Given the description of an element on the screen output the (x, y) to click on. 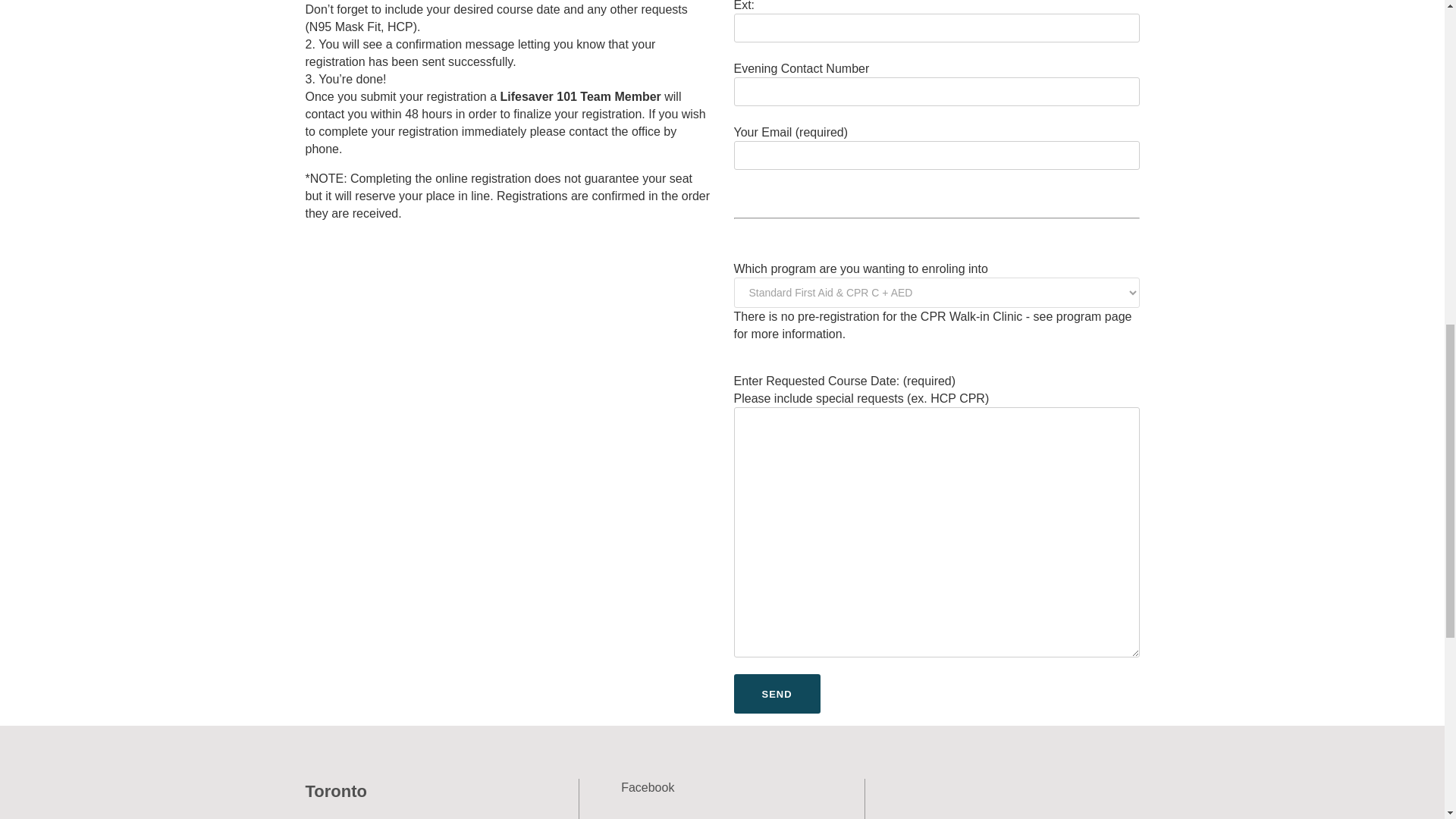
Send (777, 693)
Send (777, 693)
